Given the description of an element on the screen output the (x, y) to click on. 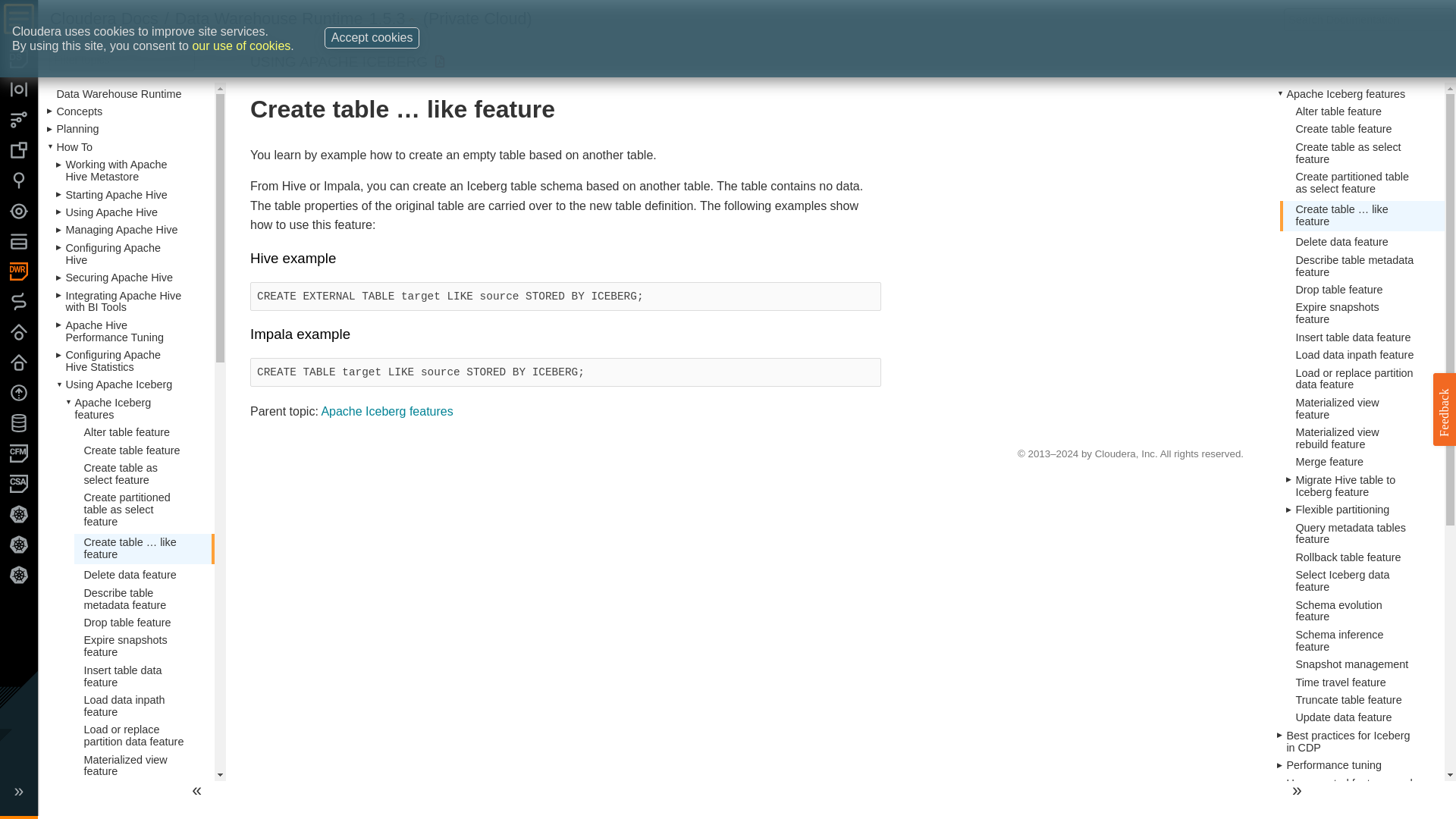
Data Warehouse Runtime (268, 18)
Cloudera Docs (103, 18)
